Given the description of an element on the screen output the (x, y) to click on. 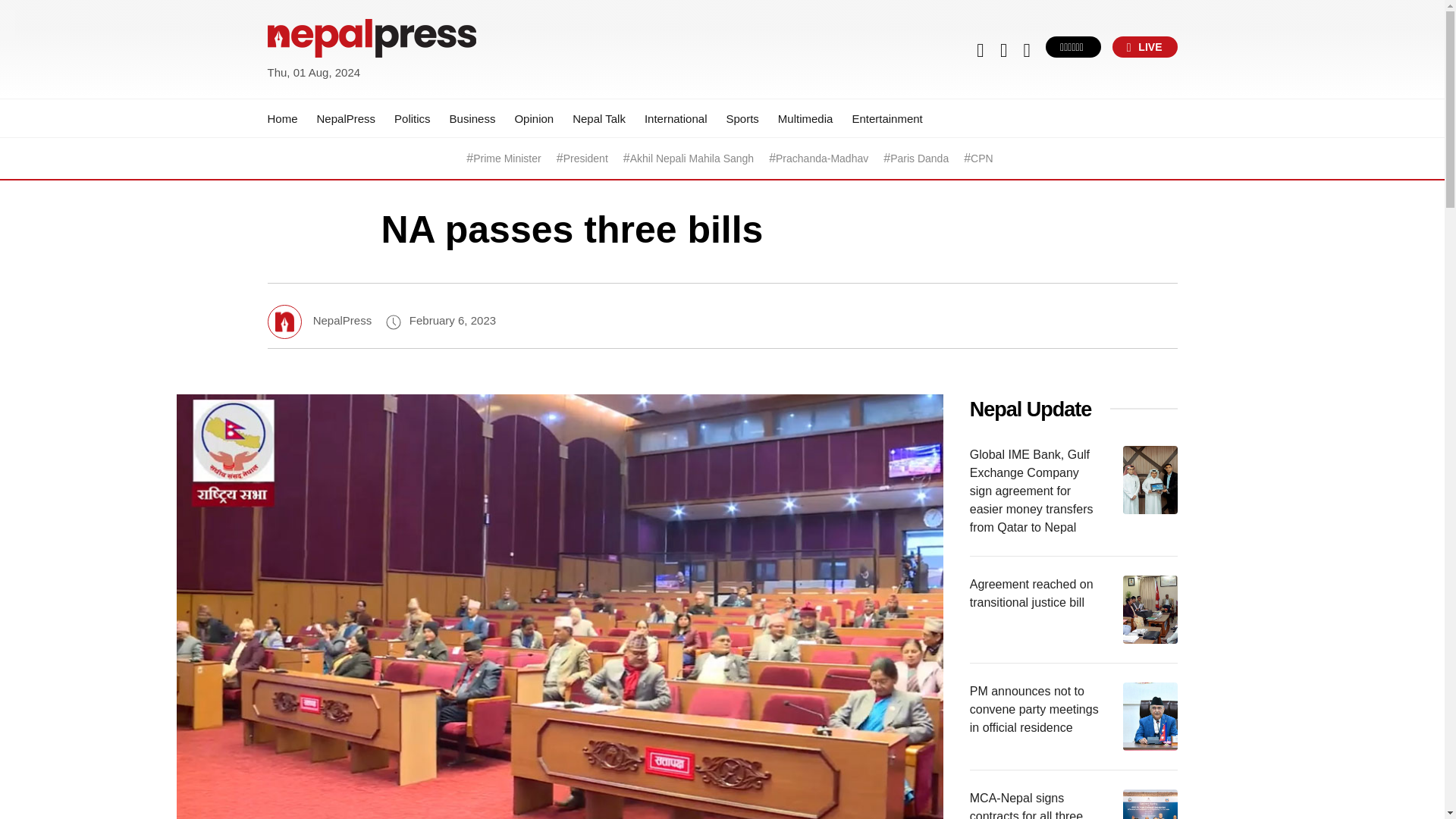
CPN (981, 158)
Opinion (533, 118)
Prime Minister (506, 158)
Akhil Nepali Mahila Sangh (692, 158)
President (585, 158)
CPN (981, 158)
President (585, 158)
Entertainment (886, 118)
Business (472, 118)
NepalPress (346, 118)
